Given the description of an element on the screen output the (x, y) to click on. 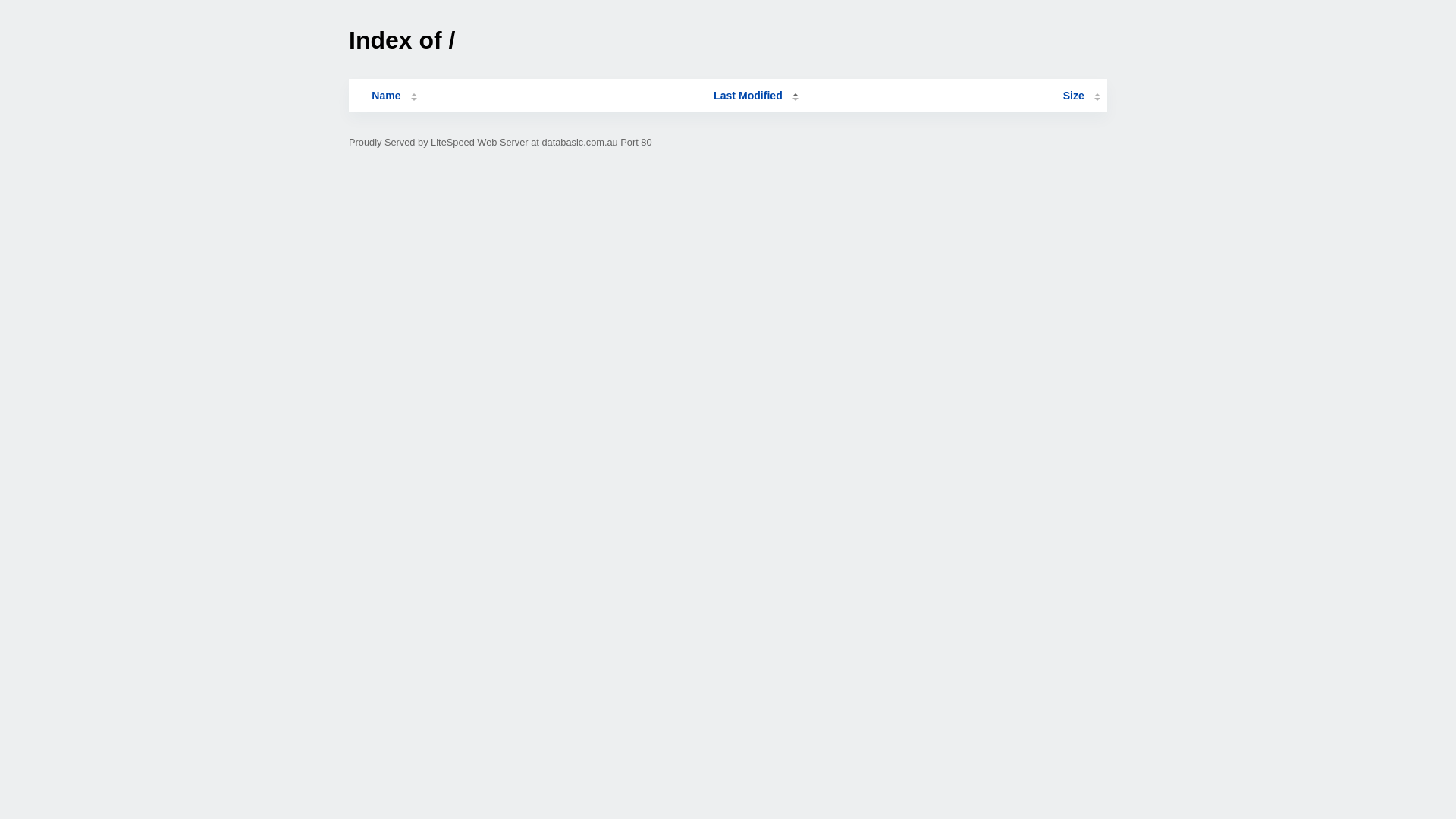
Last Modified Element type: text (755, 95)
Name Element type: text (385, 95)
Size Element type: text (1081, 95)
